Given the description of an element on the screen output the (x, y) to click on. 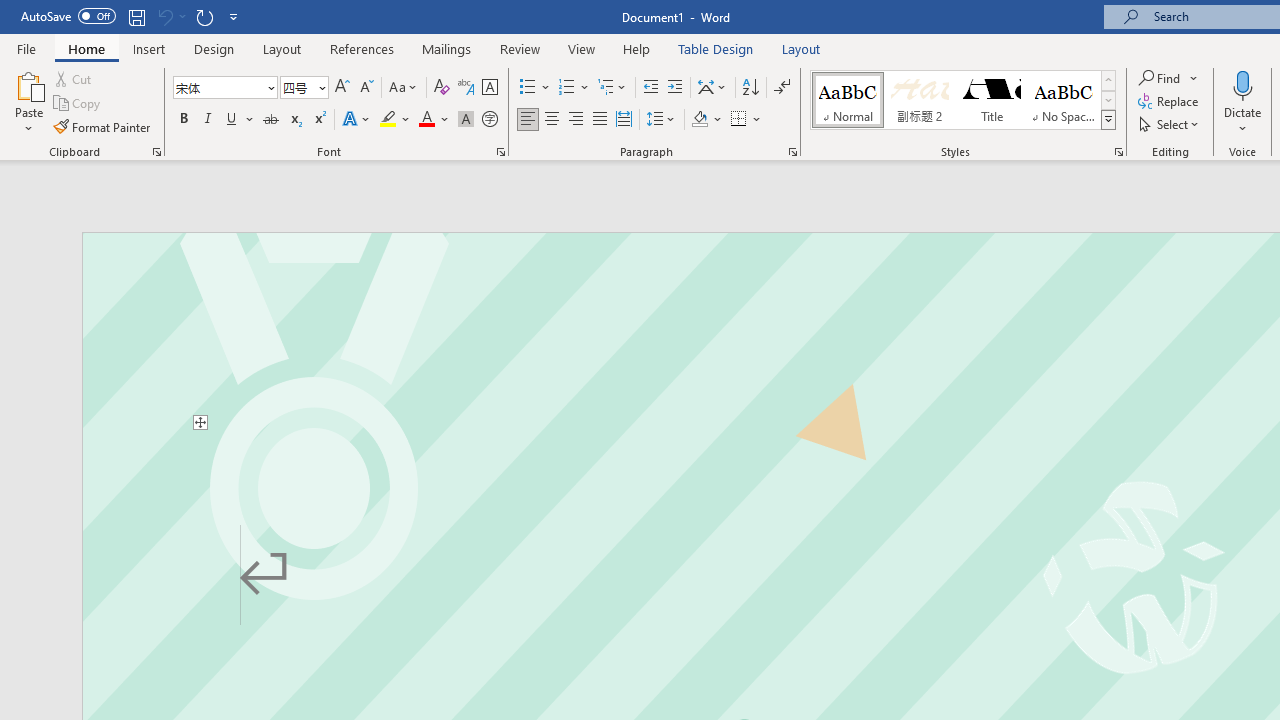
Character Border (489, 87)
Table Design (715, 48)
Distributed (623, 119)
